Given the description of an element on the screen output the (x, y) to click on. 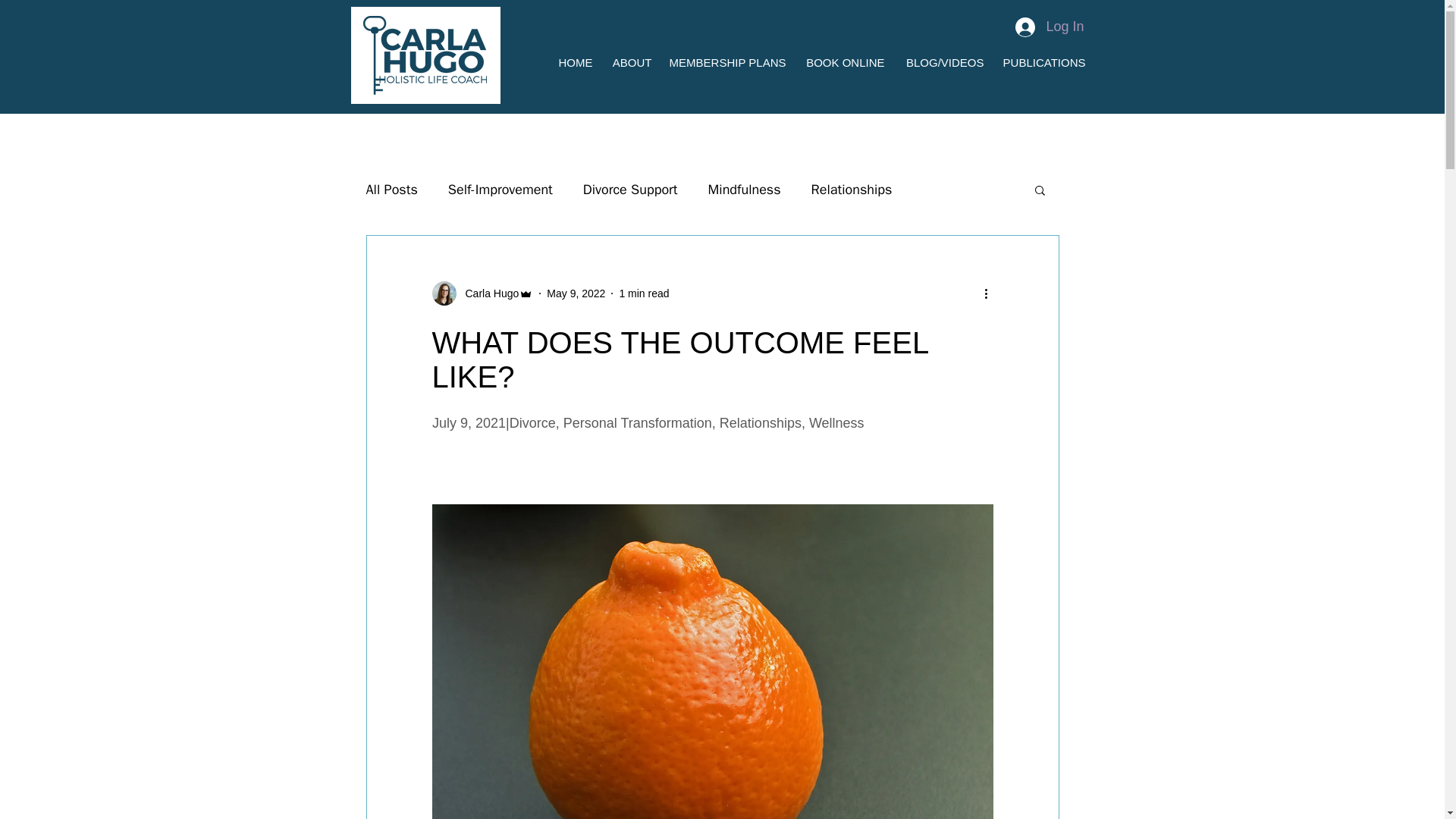
Carla Hugo (488, 293)
May 9, 2022 (576, 292)
MEMBERSHIP PLANS (726, 62)
Self-Improvement (500, 189)
PUBLICATIONS (1042, 62)
Mindfulness (743, 189)
Carla Hugo (483, 293)
Log In (1049, 27)
BOOK ONLINE (842, 62)
ABOUT (629, 62)
HOME (572, 62)
All Posts (390, 189)
Divorce Support (630, 189)
1 min read (643, 292)
Relationships (851, 189)
